Given the description of an element on the screen output the (x, y) to click on. 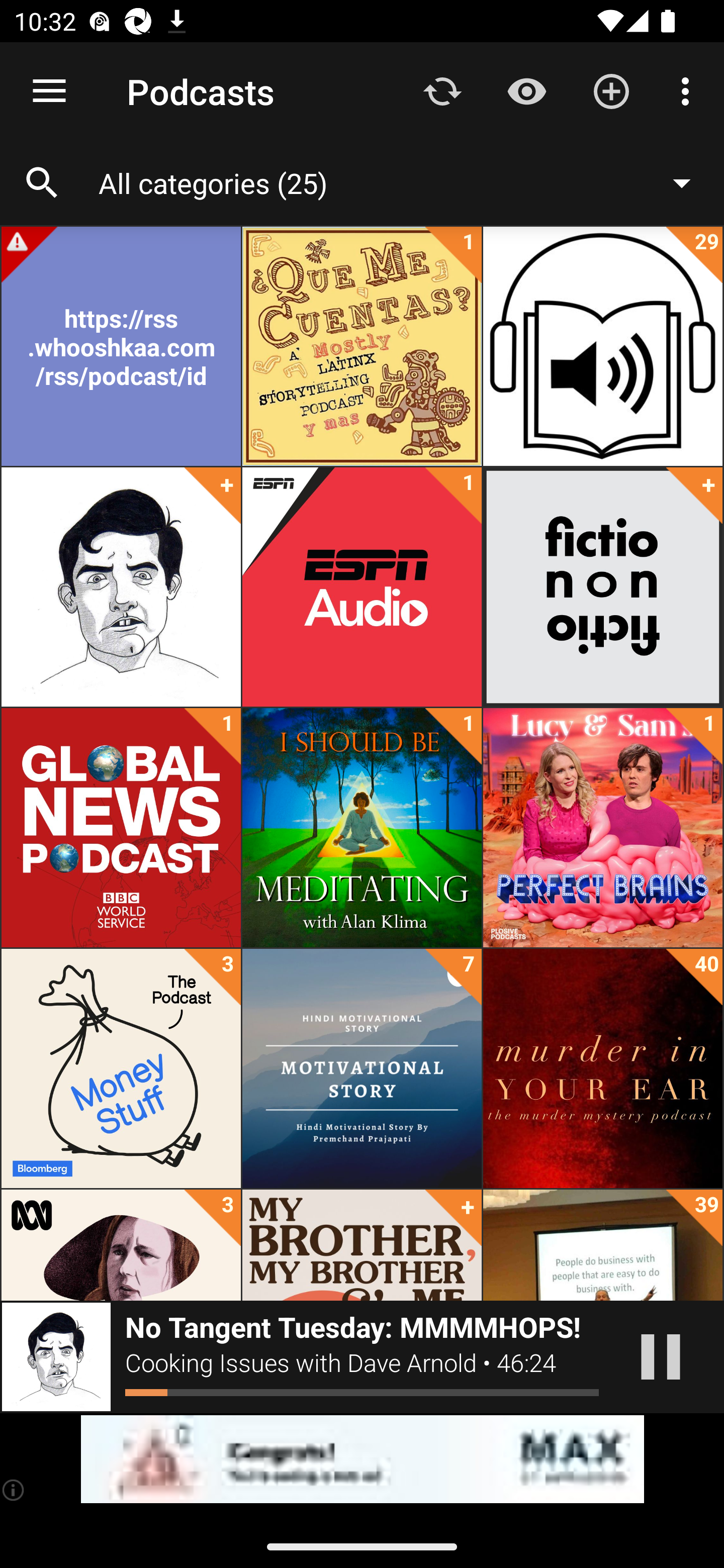
Open navigation sidebar (49, 91)
Update (442, 90)
Show / Hide played content (526, 90)
Add new Podcast (611, 90)
More options (688, 90)
Search (42, 183)
All categories (25) (404, 182)
https://rss.whooshkaa.com/rss/podcast/id/5884 (121, 346)
¿Qué Me Cuentas?: Latinx Storytelling 1 (361, 346)
Audiobooks 29 (602, 346)
Cooking Issues with Dave Arnold + (121, 587)
ESPN Audio 1 (361, 587)
fiction/non/fiction + (602, 587)
Global News Podcast 1 (121, 827)
Lucy & Sam's Perfect Brains 1 (602, 827)
Money Stuff: The Podcast 3 (121, 1068)
Murder In Your Ear-The Murder Mystery Podcast 40 (602, 1068)
Play / Pause (660, 1356)
app-monetization (362, 1459)
(i) (14, 1489)
